Given the description of an element on the screen output the (x, y) to click on. 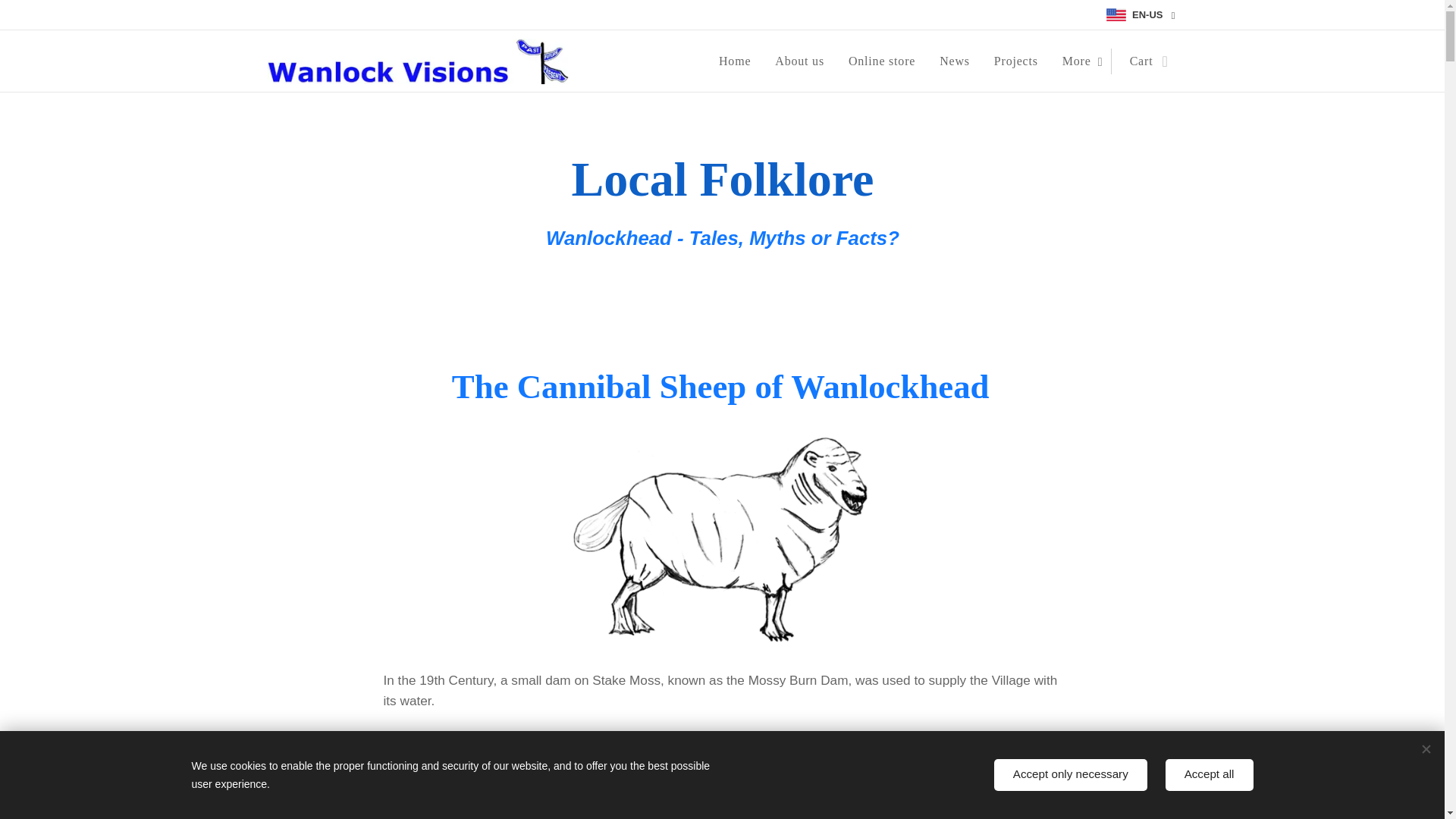
Online store (881, 61)
Projects (1015, 61)
Home (738, 61)
News (954, 61)
About us (798, 61)
Cart (1143, 61)
More (1079, 61)
